Given the description of an element on the screen output the (x, y) to click on. 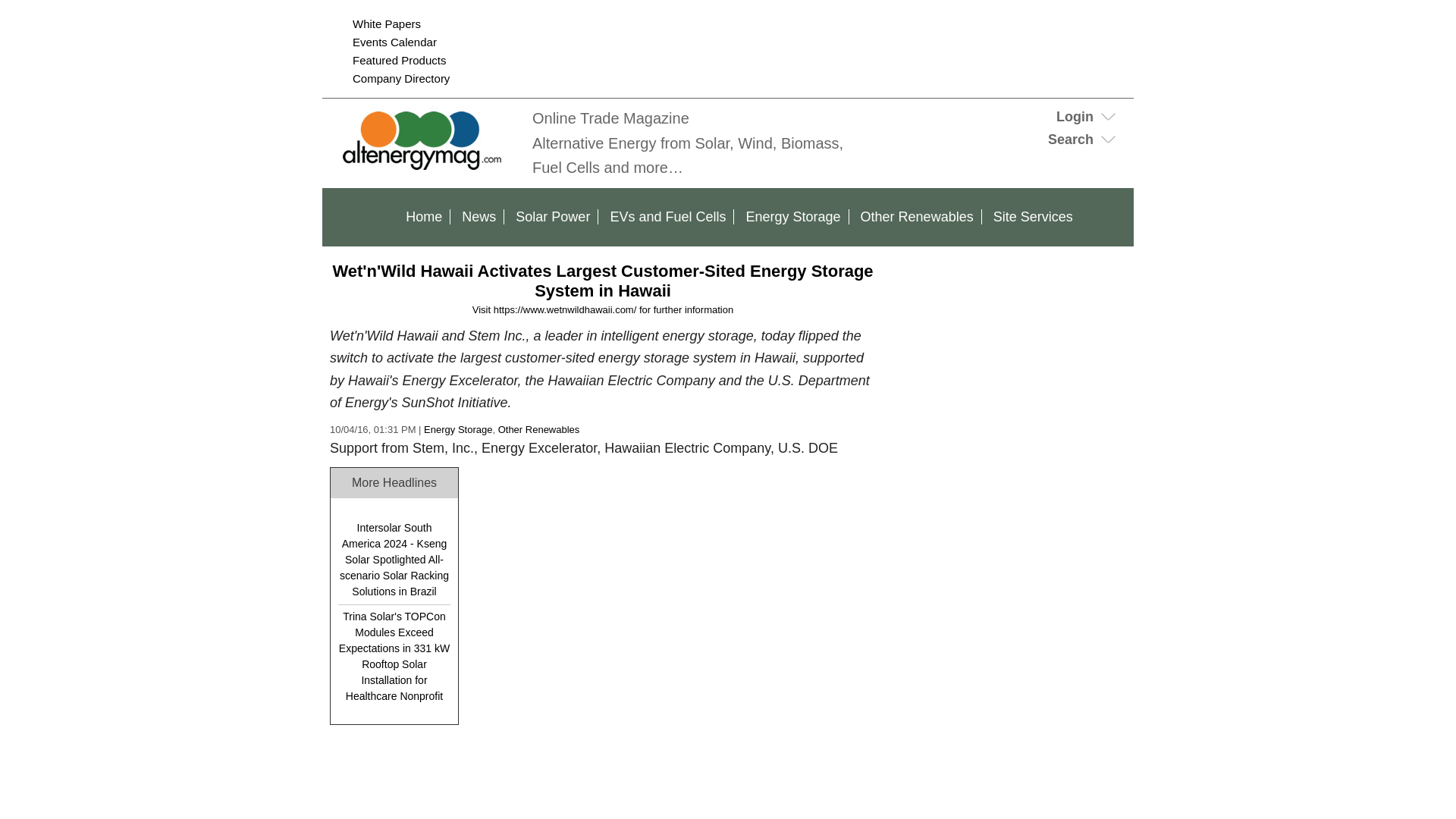
Site Services (1032, 217)
Energy Storage (792, 217)
News (478, 217)
White Papers (386, 23)
Energy Storage (457, 429)
Featured Products (398, 60)
Other Renewables (917, 217)
Home (423, 217)
